Given the description of an element on the screen output the (x, y) to click on. 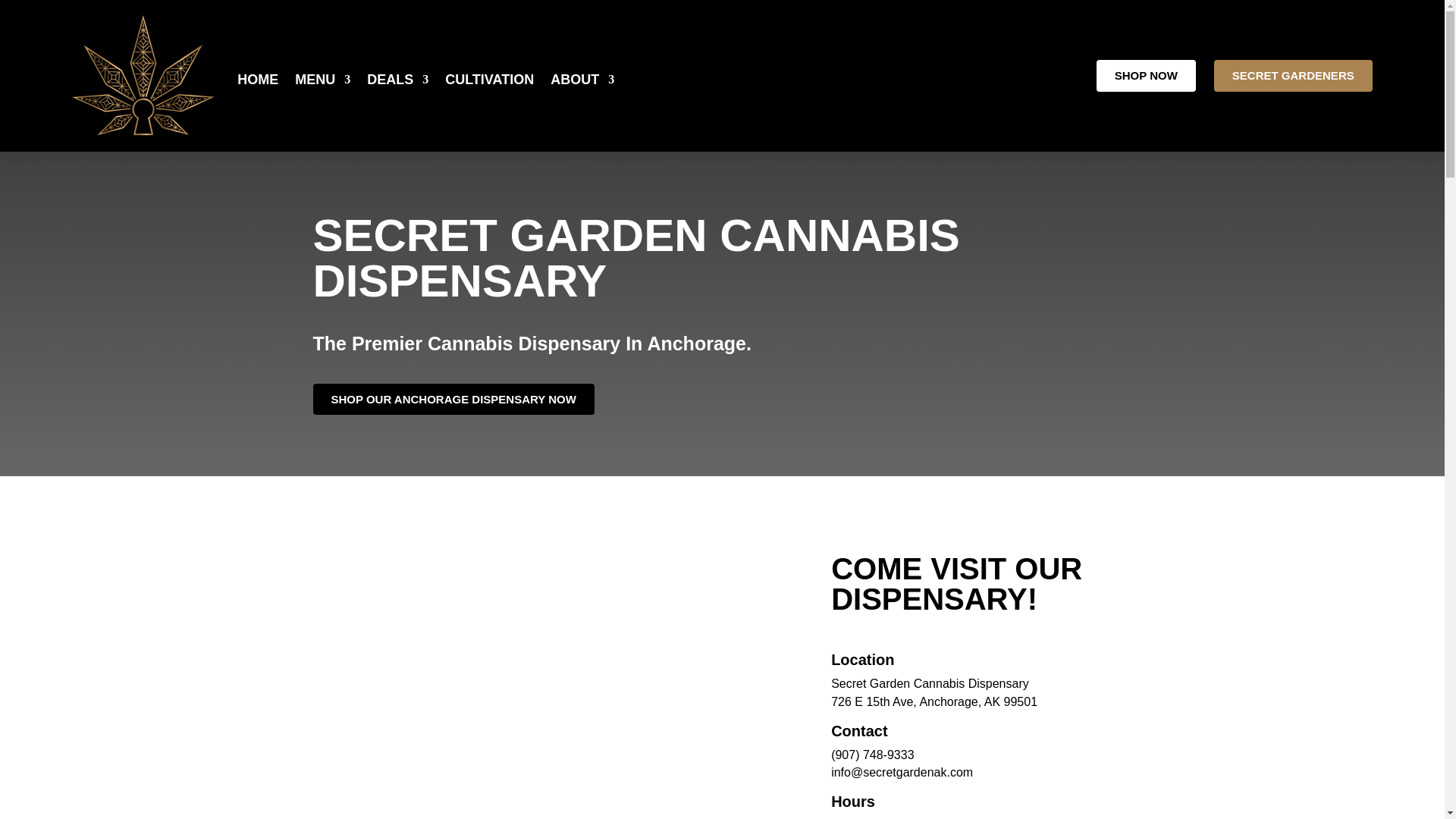
726 E 15th Ave, Anchorage, AK 99501 (933, 701)
Secret Garden Cannabis Dispensary (930, 683)
SHOP OUR ANCHORAGE DISPENSARY NOW (453, 399)
SHOP NOW (1145, 75)
SECRET GARDENERS (1293, 75)
